Given the description of an element on the screen output the (x, y) to click on. 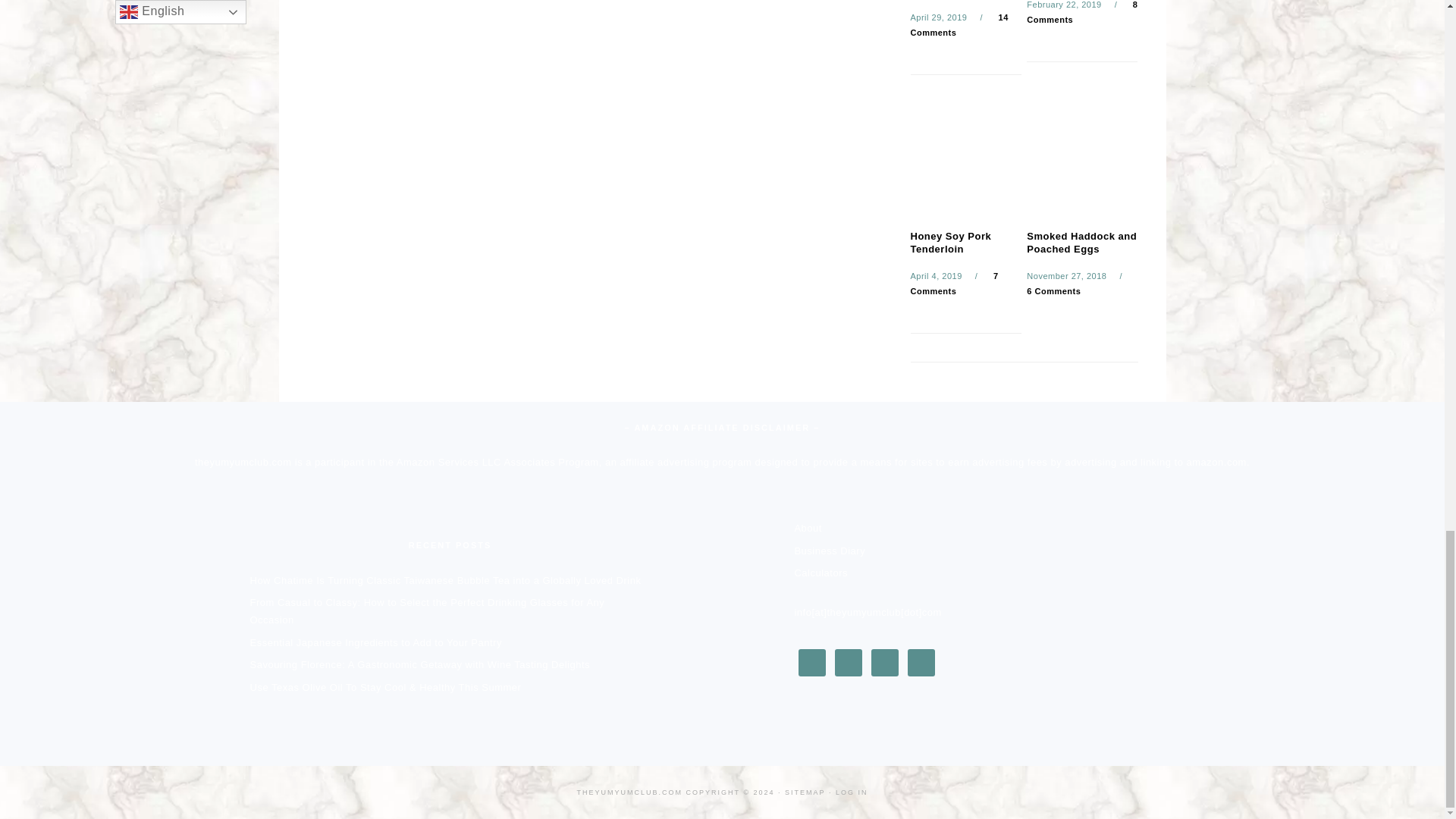
Smoked Haddock and Poached Eggs (1081, 158)
Honey Soy Pork Tenderloin (965, 158)
14 Comments (958, 24)
